Given the description of an element on the screen output the (x, y) to click on. 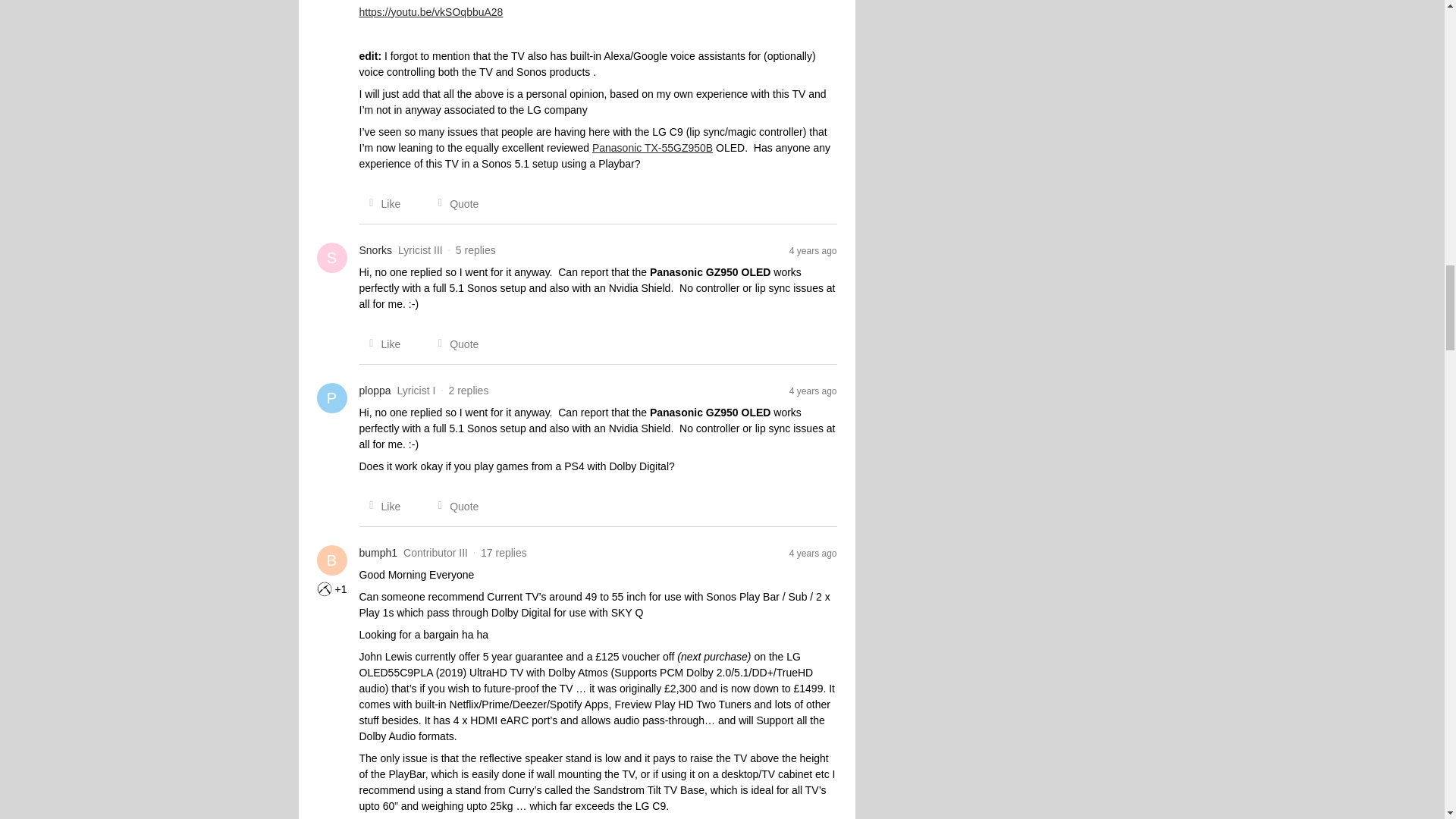
Carving it out I (324, 589)
bumph1 (378, 553)
Snorks (376, 250)
ploppa (375, 390)
